Given the description of an element on the screen output the (x, y) to click on. 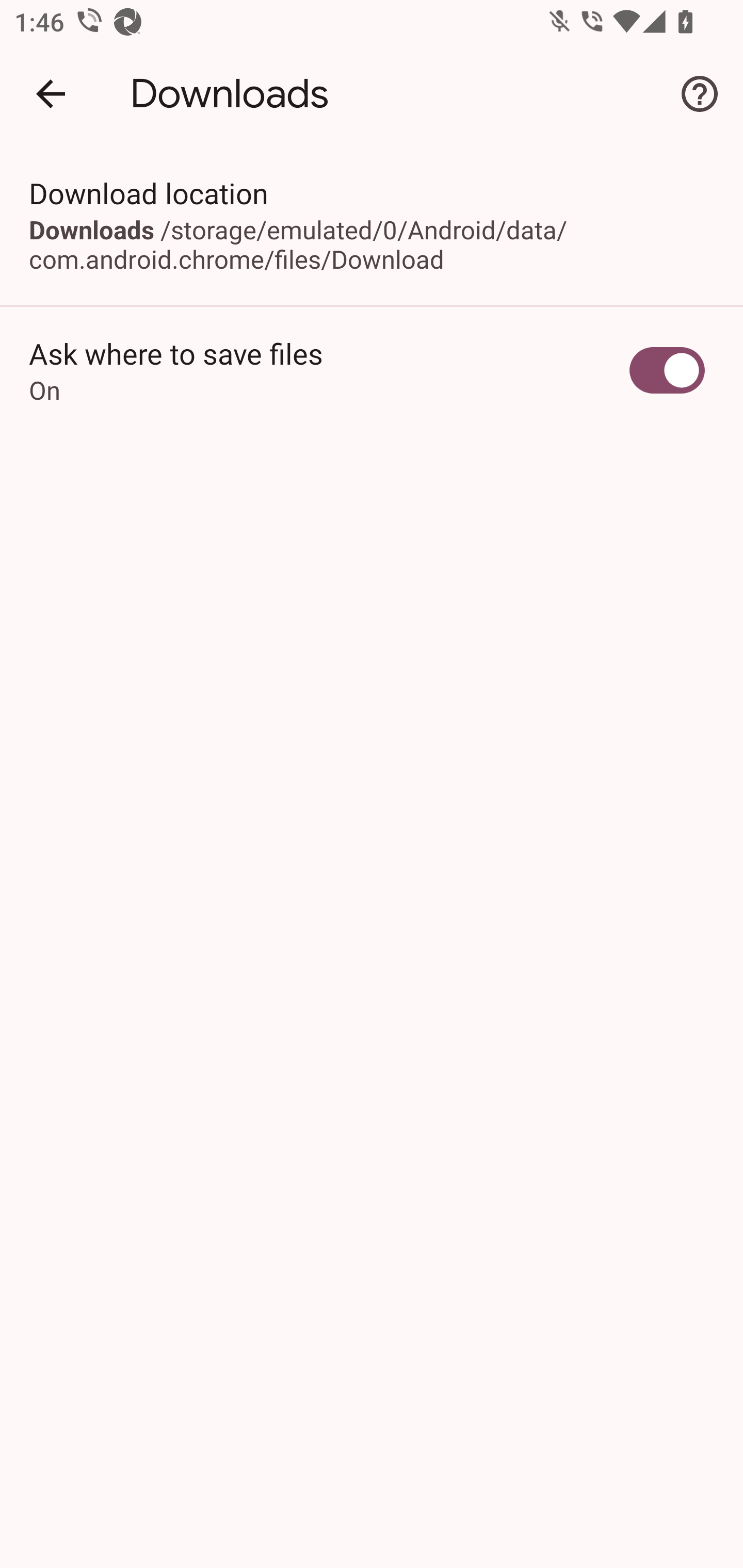
Navigate up (50, 93)
Help & feedback (699, 93)
Ask where to save files On (371, 369)
